Given the description of an element on the screen output the (x, y) to click on. 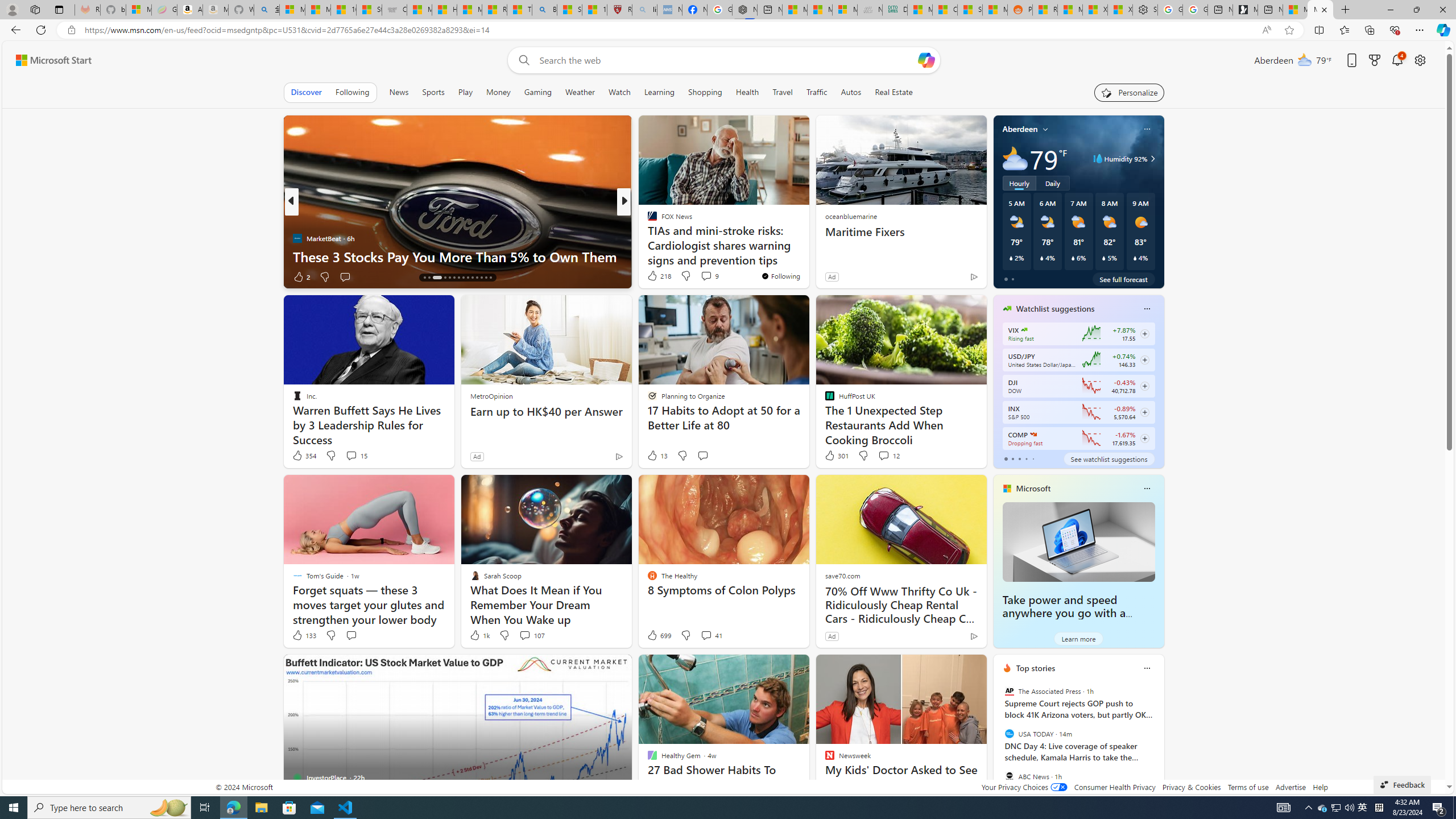
Parade (647, 219)
HowToGeek (647, 238)
Health (746, 92)
Traffic (816, 92)
419 Like (654, 276)
The Mirror US (647, 219)
78 Like (652, 276)
